Given the description of an element on the screen output the (x, y) to click on. 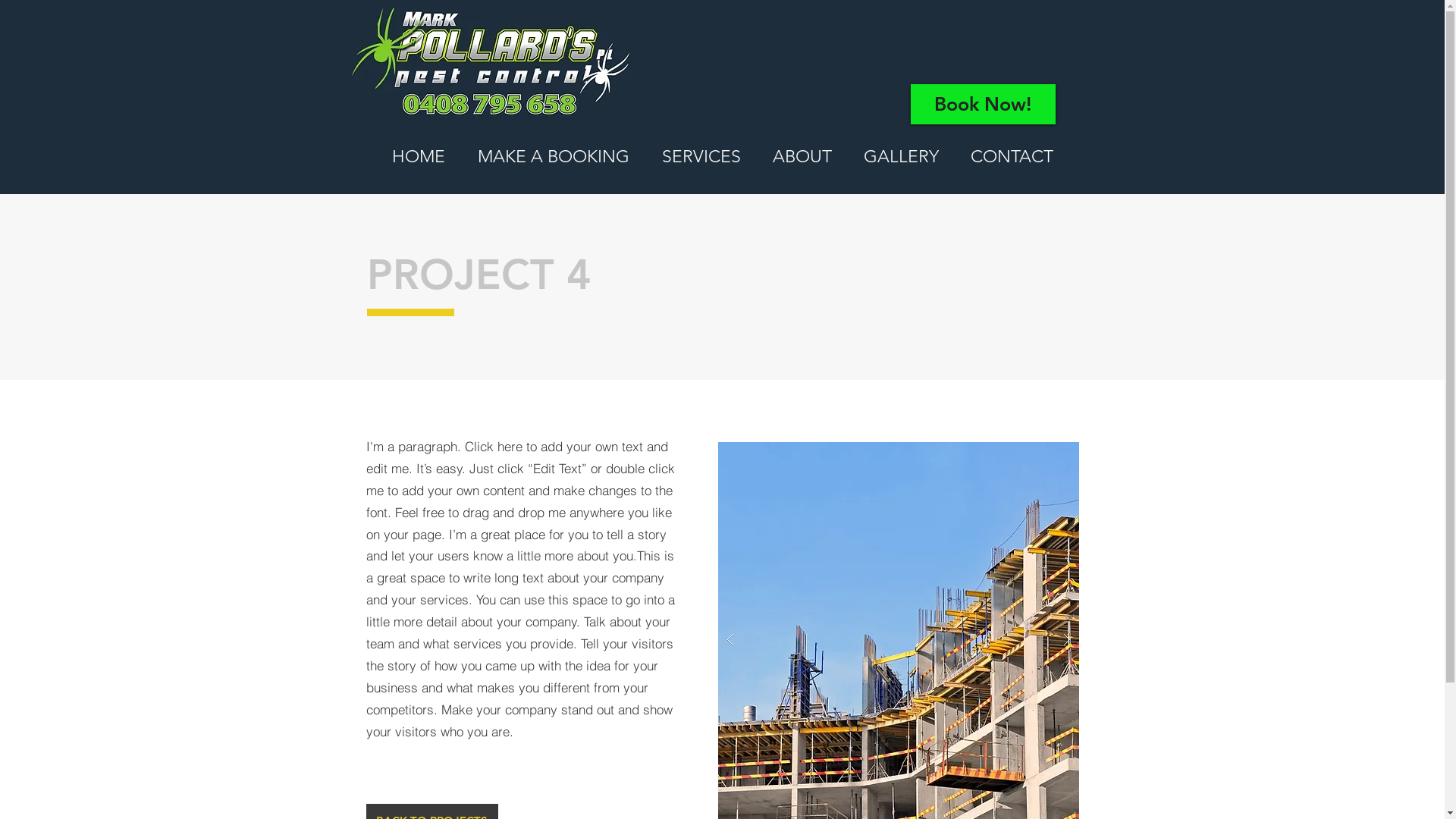
GALLERY Element type: text (900, 156)
MAKE A BOOKING Element type: text (553, 156)
Book Now! Element type: text (982, 104)
CONTACT Element type: text (1011, 156)
HOME Element type: text (418, 156)
SERVICES Element type: text (700, 156)
ABOUT Element type: text (801, 156)
